Given the description of an element on the screen output the (x, y) to click on. 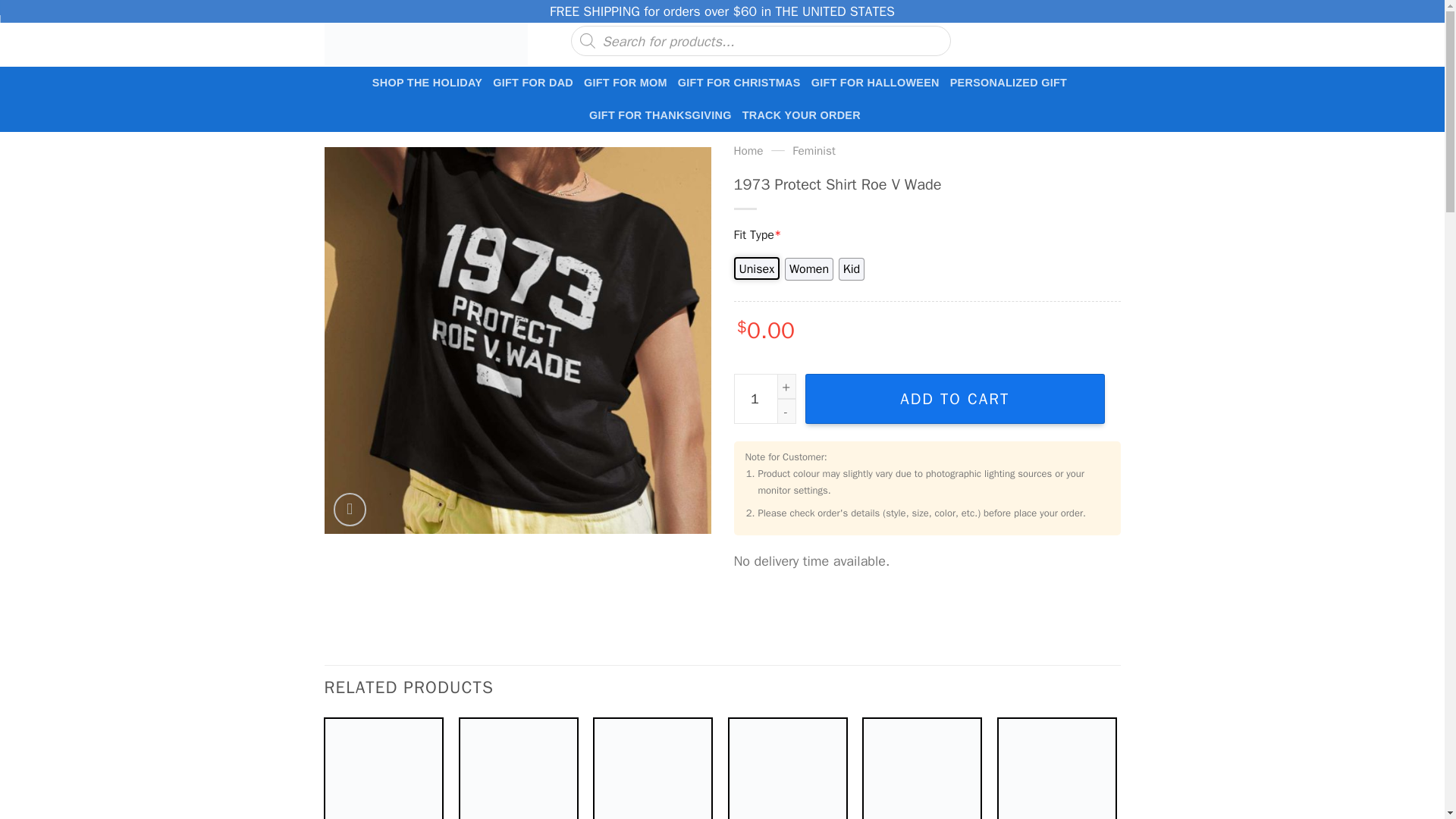
Unisex (756, 268)
Drama Shirt - all the designs you need in one place (425, 40)
Home (747, 150)
SHOP THE HOLIDAY (426, 82)
TRACK YOUR ORDER (801, 115)
1 (764, 398)
Zoom (349, 509)
Cart (1074, 40)
Women (808, 268)
PERSONALIZED GIFT (1008, 82)
